Given the description of an element on the screen output the (x, y) to click on. 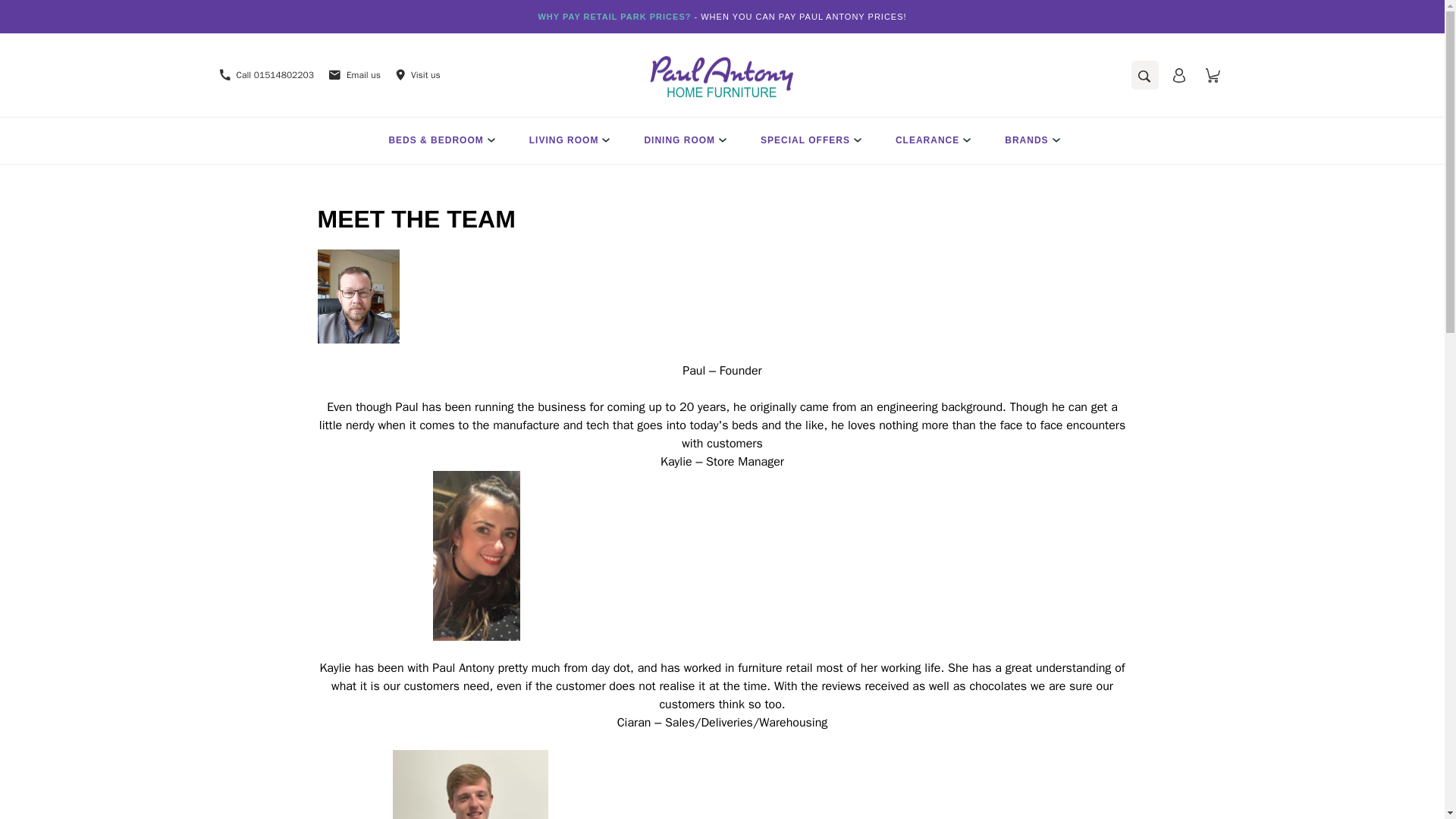
Email us (347, 74)
Call 01514802203 (266, 74)
Visit us (410, 74)
